Given the description of an element on the screen output the (x, y) to click on. 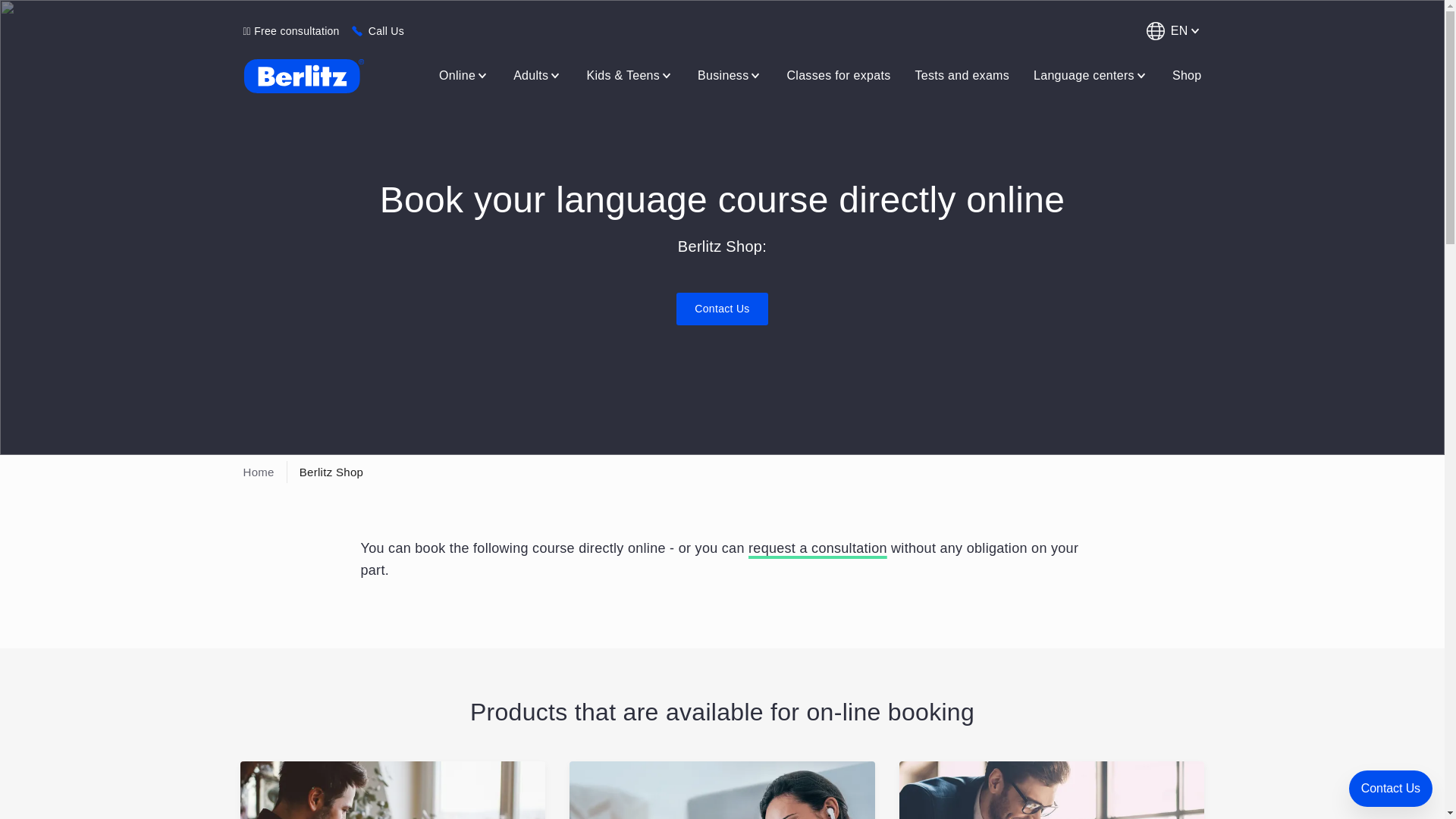
Online (463, 75)
Language centers (1090, 75)
Adults (536, 75)
Business (729, 75)
Call Us (386, 30)
EN (1171, 30)
Tests and exams (961, 75)
Classes for expats (838, 75)
Berlitz CH (302, 76)
Shop (1187, 75)
